Given the description of an element on the screen output the (x, y) to click on. 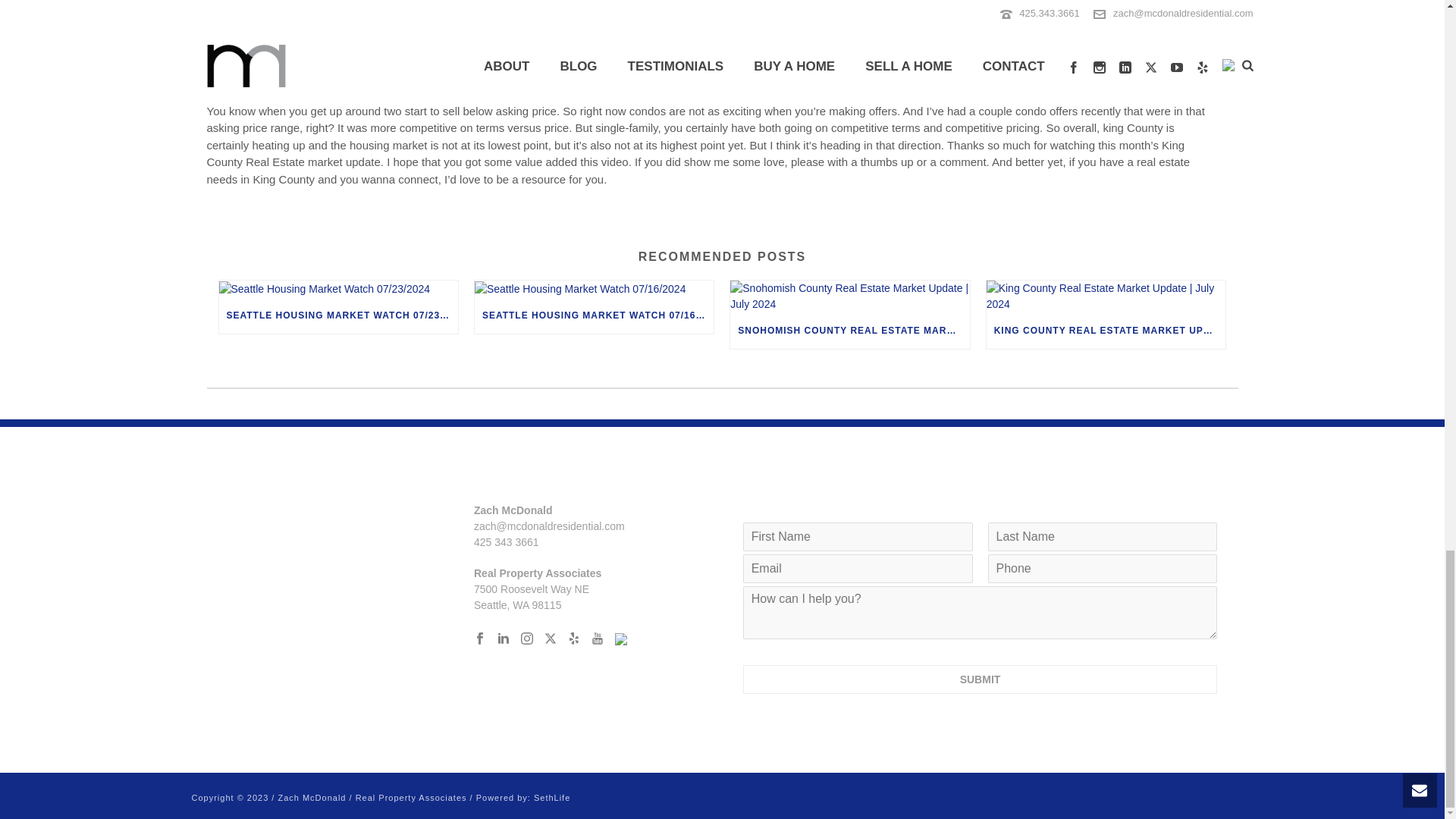
Follow Us on instagram (526, 639)
Follow Us on yelp (573, 639)
